Given the description of an element on the screen output the (x, y) to click on. 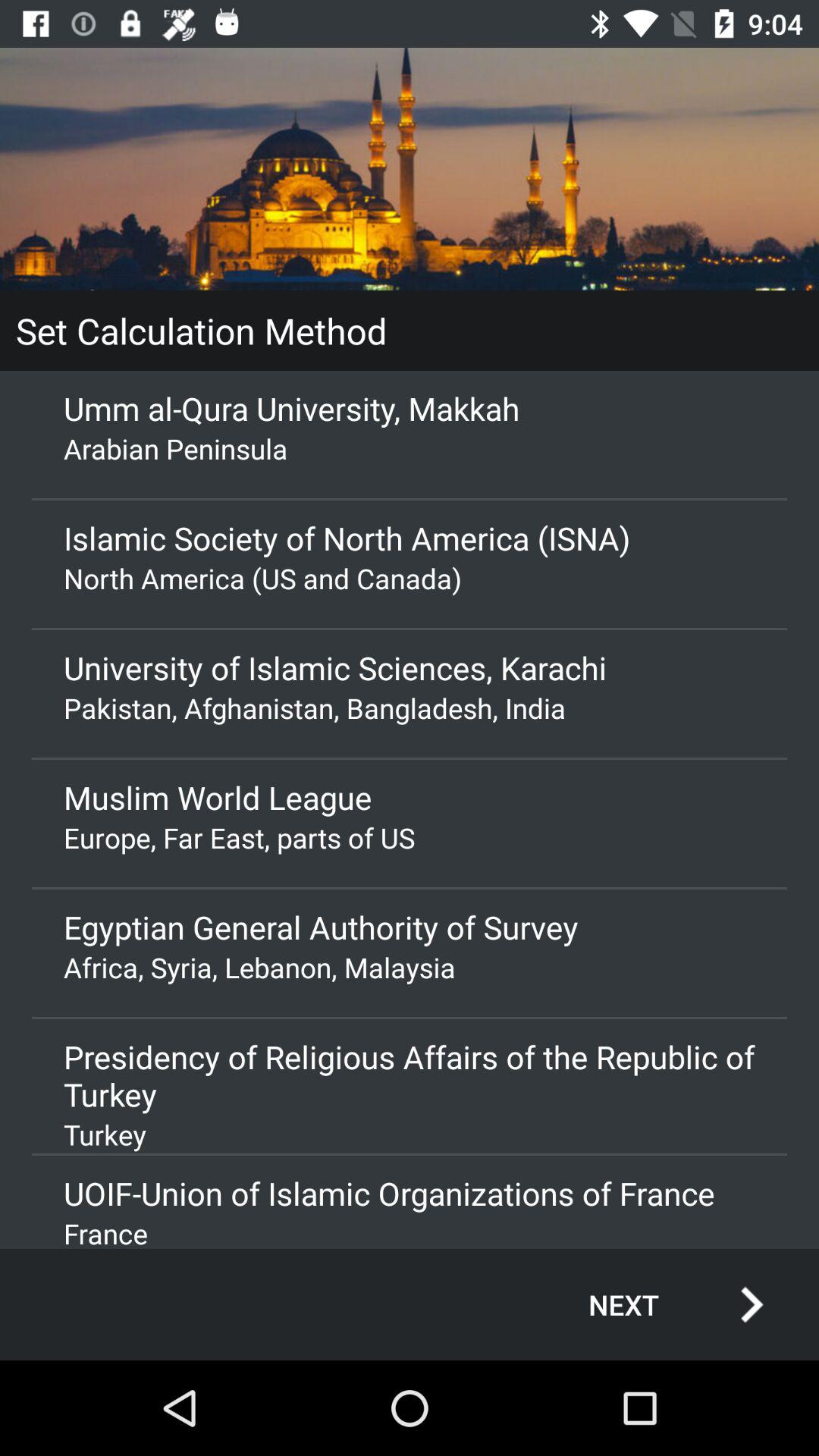
jump until muslim world league item (409, 797)
